Given the description of an element on the screen output the (x, y) to click on. 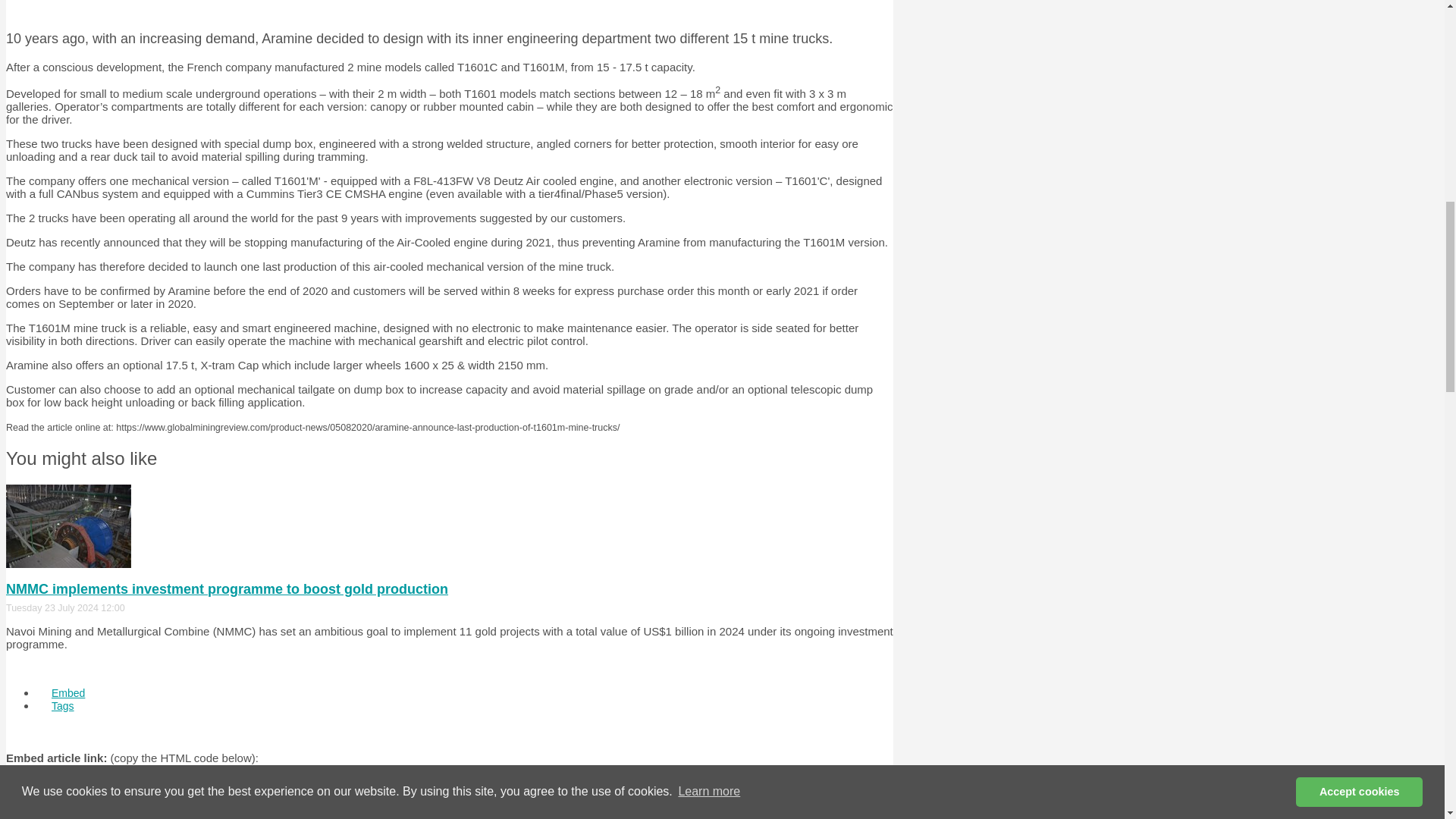
3rd party ad content (449, 7)
Embed (68, 692)
Tags (62, 705)
